Given the description of an element on the screen output the (x, y) to click on. 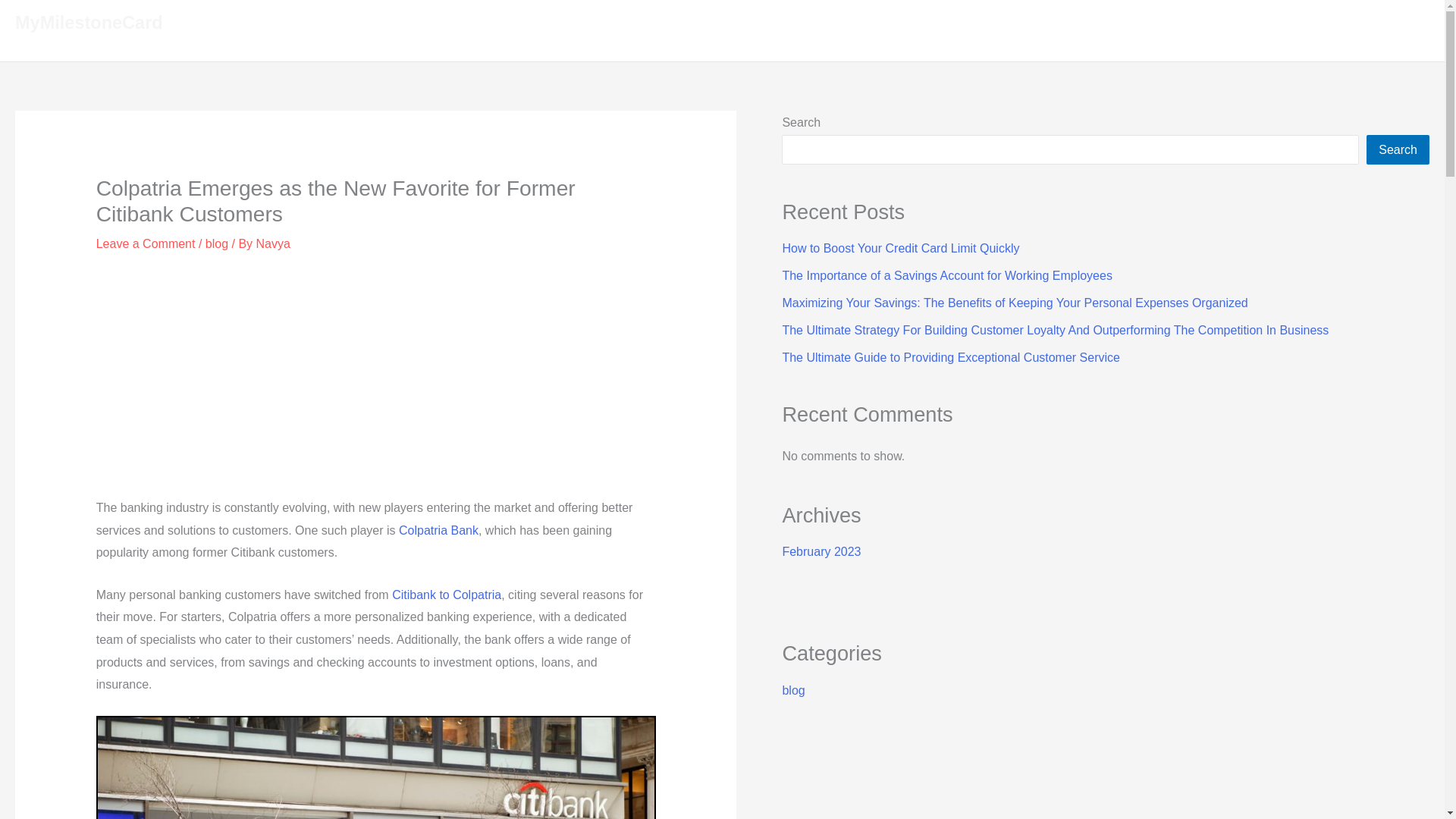
Leave a Comment (145, 243)
blog (793, 689)
Navya (272, 243)
The Importance of a Savings Account for Working Employees (946, 275)
View all posts by Navya (272, 243)
Citibank to Colpatria (445, 594)
MyMilestoneCard (88, 22)
Advertisement (376, 382)
Search (1398, 149)
